Given the description of an element on the screen output the (x, y) to click on. 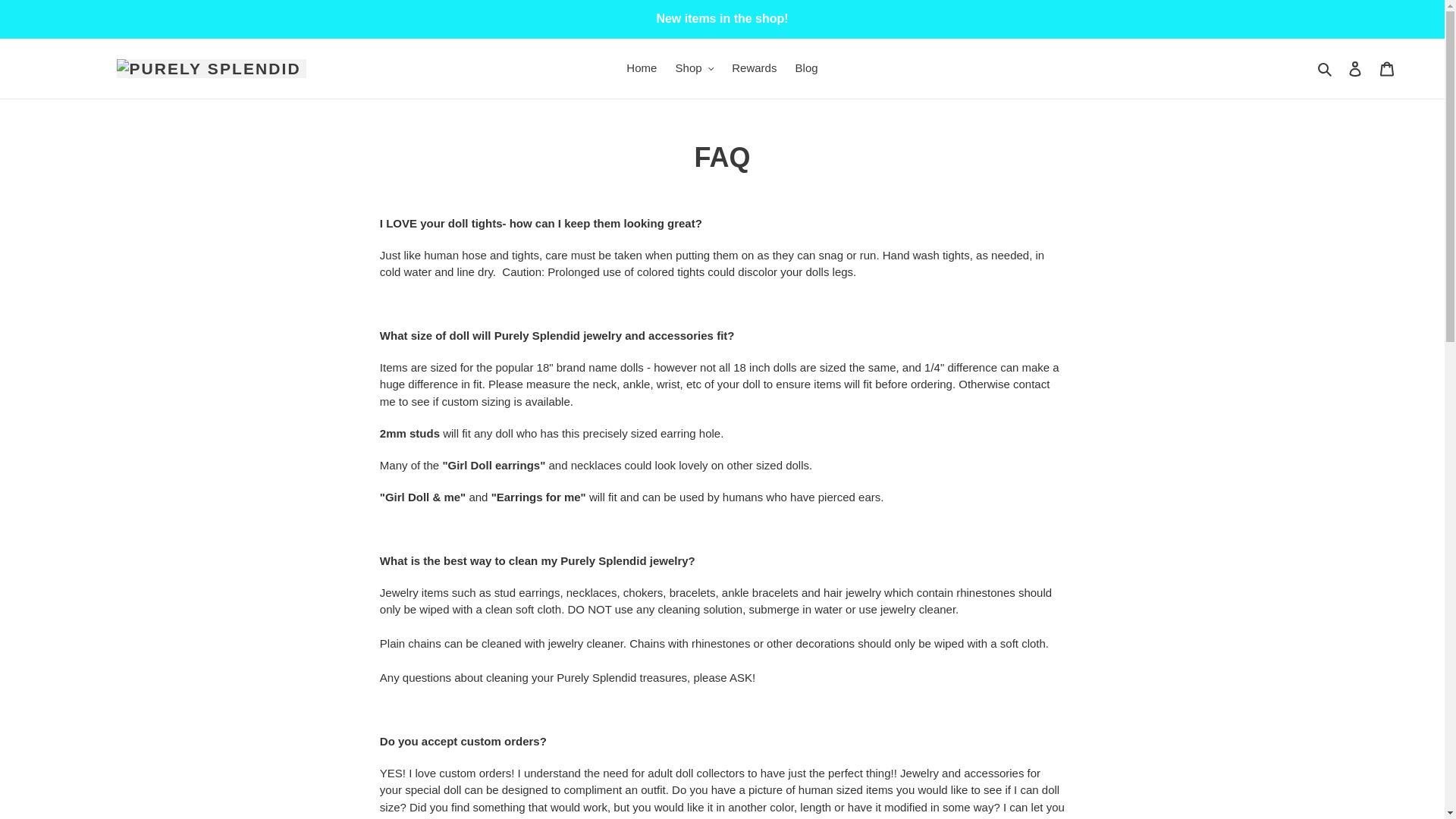
Blog (806, 68)
New items in the shop! (721, 18)
Rewards (753, 68)
Search (1326, 67)
Shop (695, 68)
Home (640, 68)
Log in (1355, 68)
